Given the description of an element on the screen output the (x, y) to click on. 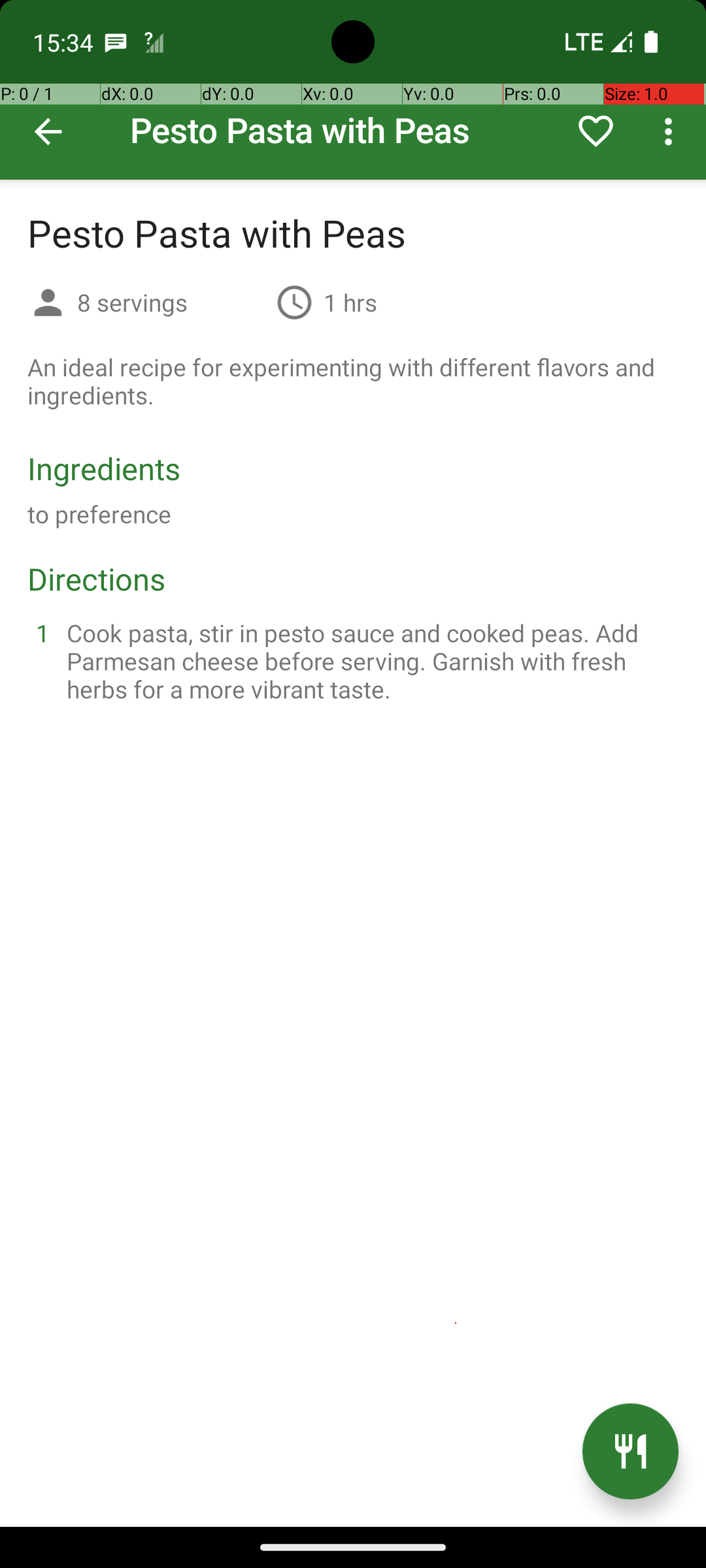
Cook pasta, stir in pesto sauce and cooked peas. Add Parmesan cheese before serving. Garnish with fresh herbs for a more vibrant taste. Element type: android.widget.TextView (368, 660)
